Given the description of an element on the screen output the (x, y) to click on. 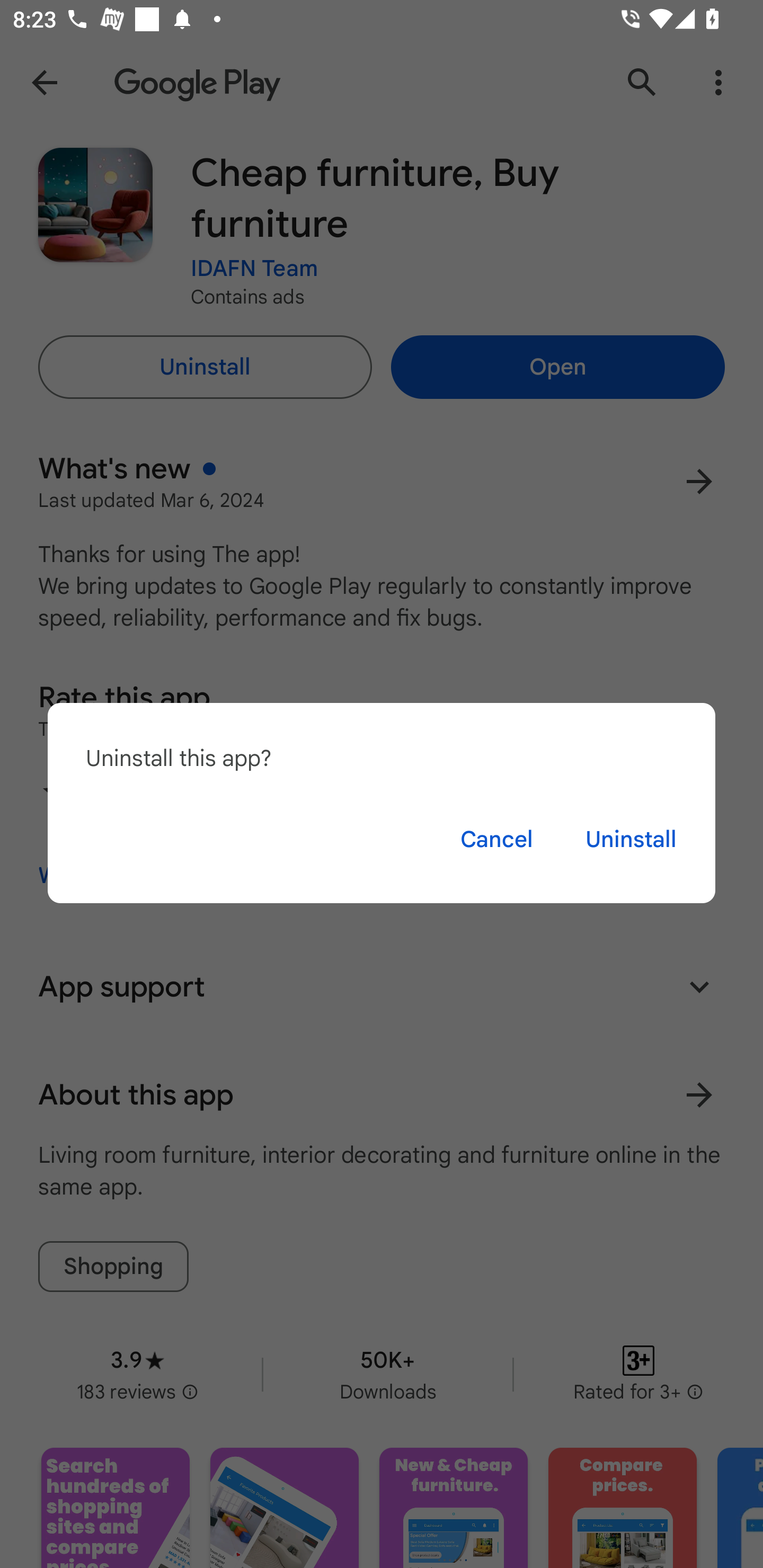
Cancel (496, 839)
Uninstall (631, 839)
